Given the description of an element on the screen output the (x, y) to click on. 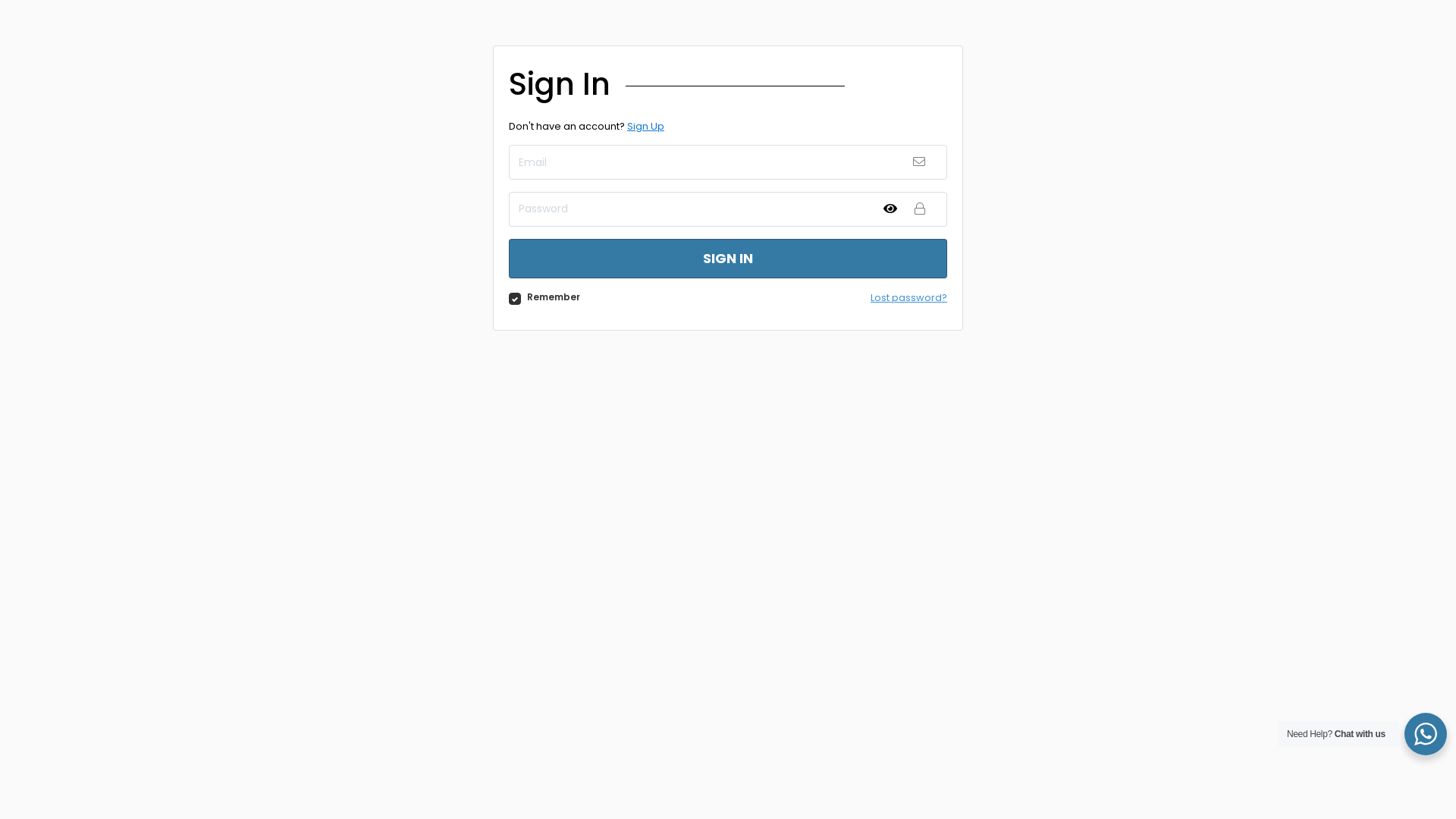
Lost password? Element type: text (908, 297)
SIGN IN Element type: text (727, 258)
Sign Up Element type: text (645, 125)
